Given the description of an element on the screen output the (x, y) to click on. 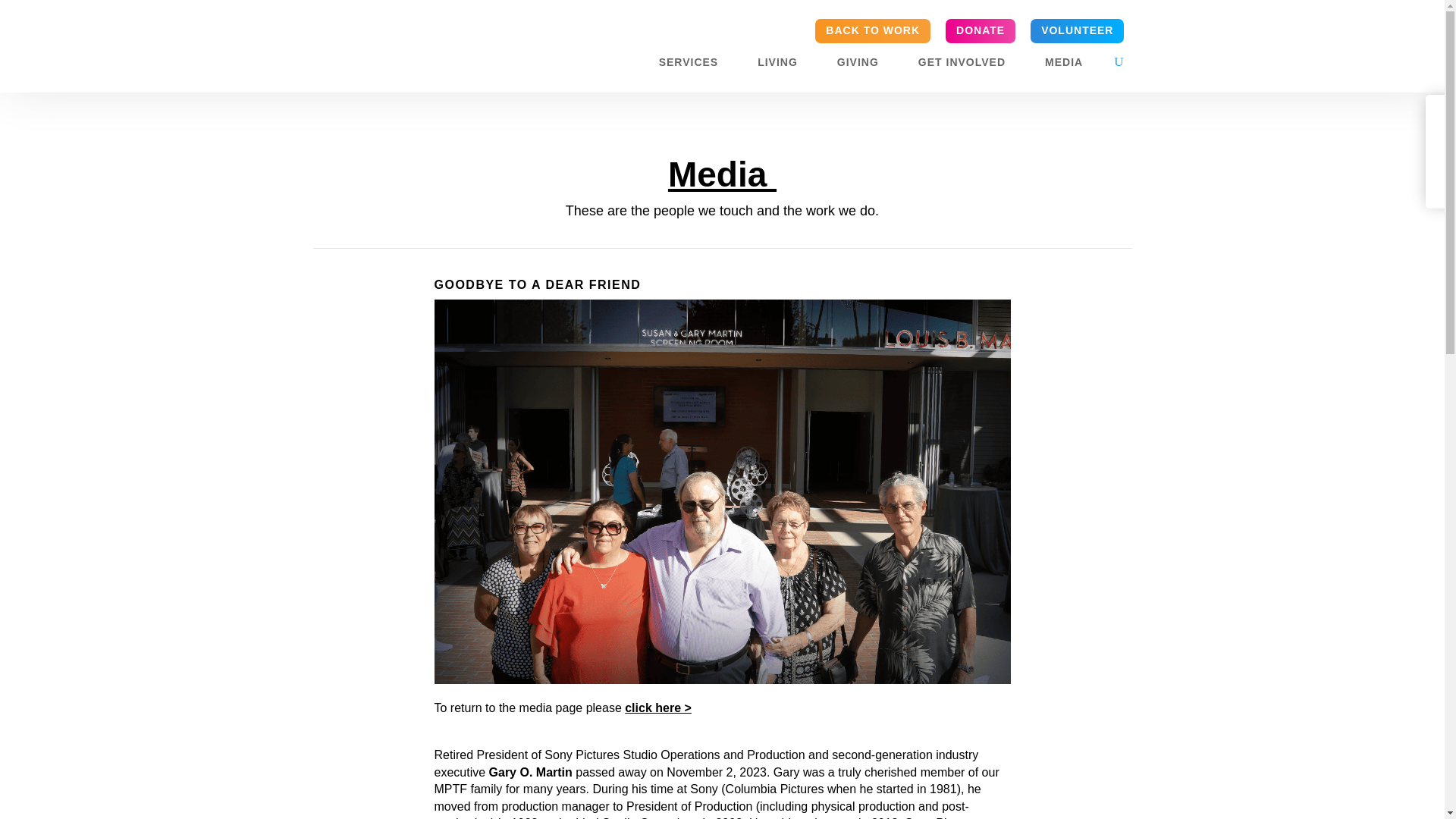
GET INVOLVED (969, 64)
GIVING (865, 64)
SERVICES (696, 64)
VOLUNTEER (1077, 30)
LIVING (784, 64)
MEDIA (1071, 64)
DONATE (979, 30)
BACK TO WORK (872, 30)
